Given the description of an element on the screen output the (x, y) to click on. 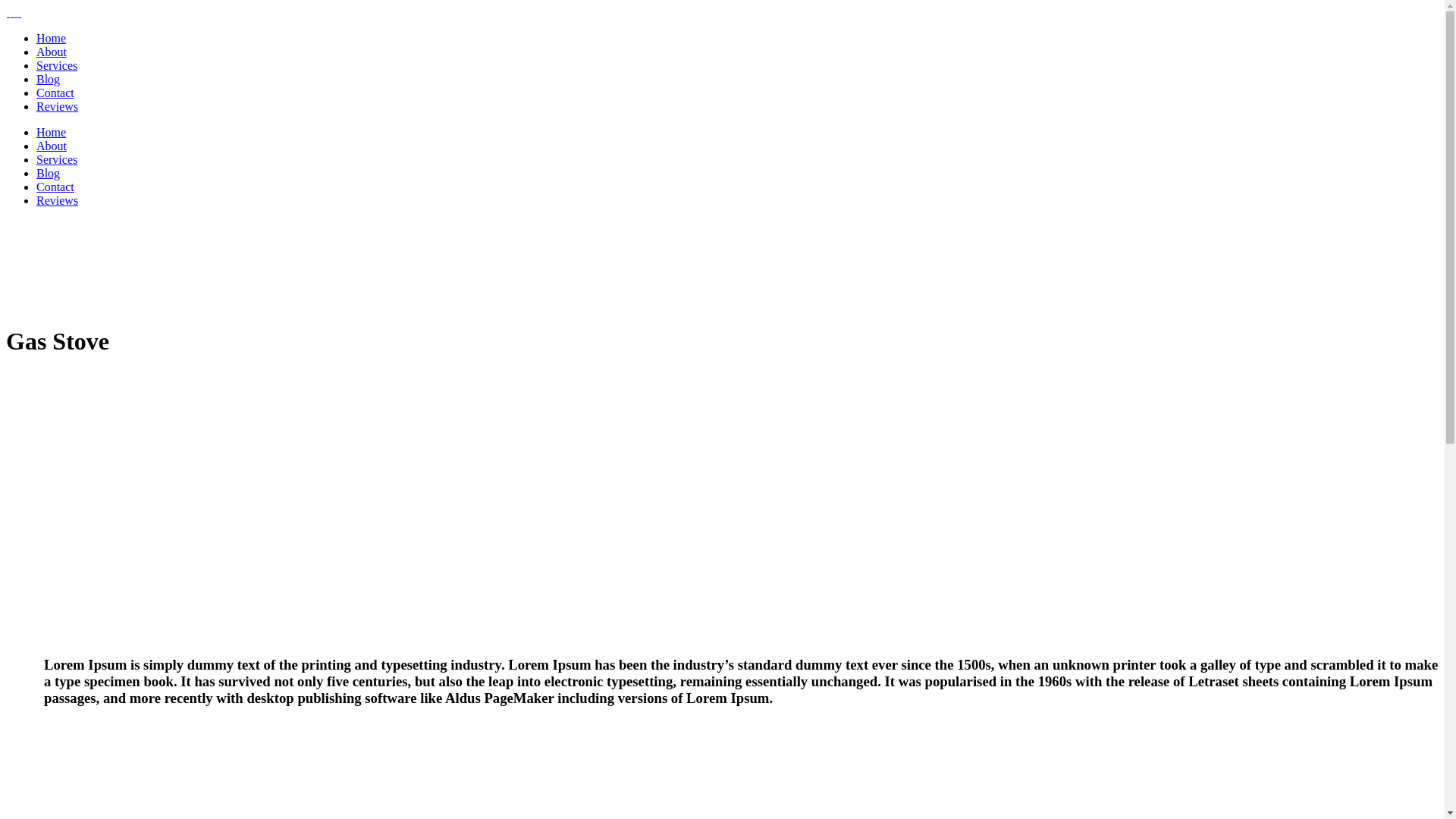
Blog Element type: text (47, 78)
Home Element type: text (50, 131)
About Element type: text (51, 145)
Home Element type: text (50, 37)
Reviews Element type: text (57, 106)
Contact Element type: text (55, 186)
Contact Element type: text (55, 92)
Blog Element type: text (47, 172)
Services Element type: text (56, 159)
About Element type: text (51, 51)
Services Element type: text (56, 65)
Reviews Element type: text (57, 200)
